Given the description of an element on the screen output the (x, y) to click on. 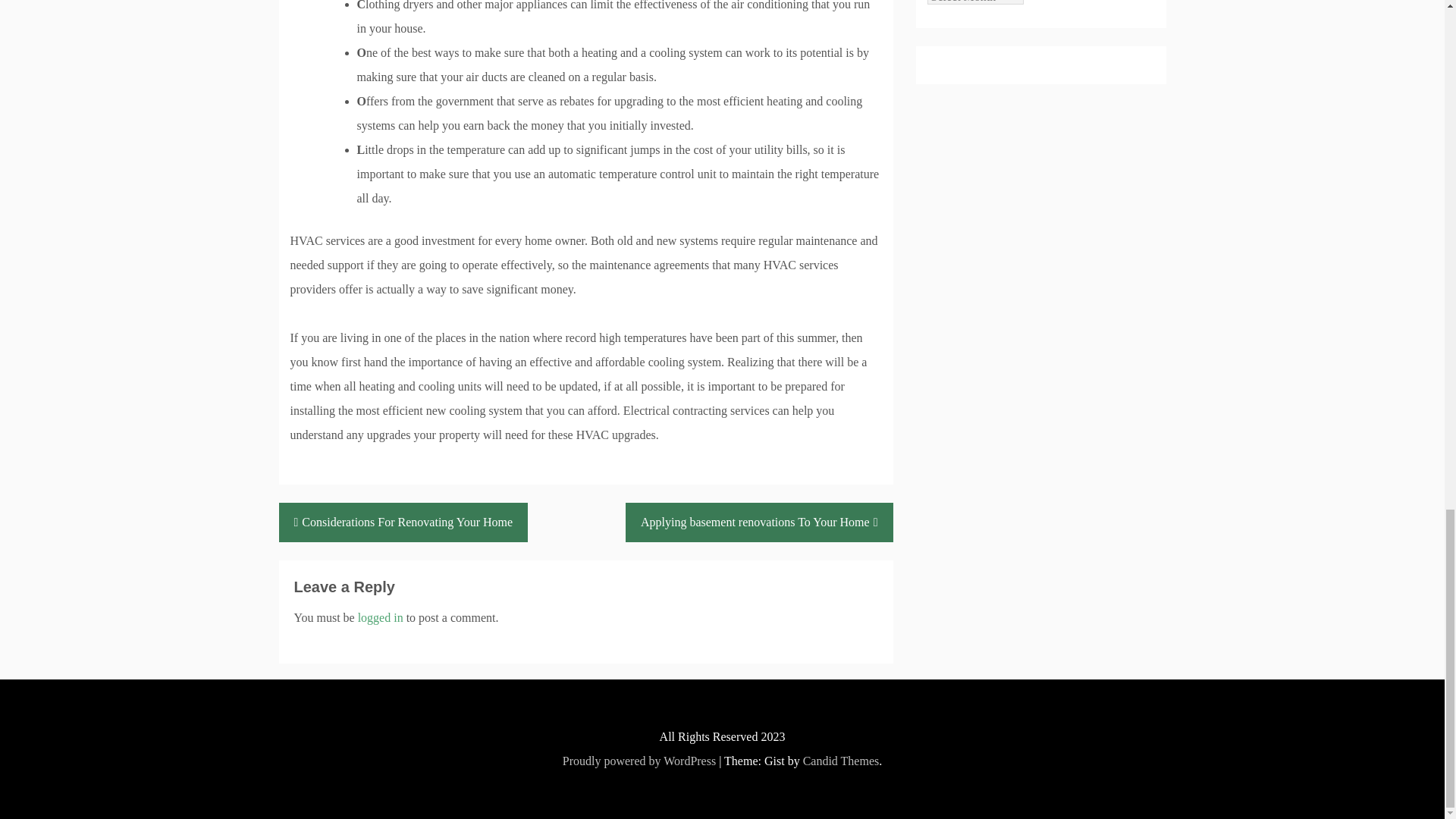
Candid Themes (841, 760)
Proudly powered by WordPress (639, 760)
Applying basement renovations To Your Home (759, 522)
logged in (380, 617)
Considerations For Renovating Your Home (403, 522)
